Given the description of an element on the screen output the (x, y) to click on. 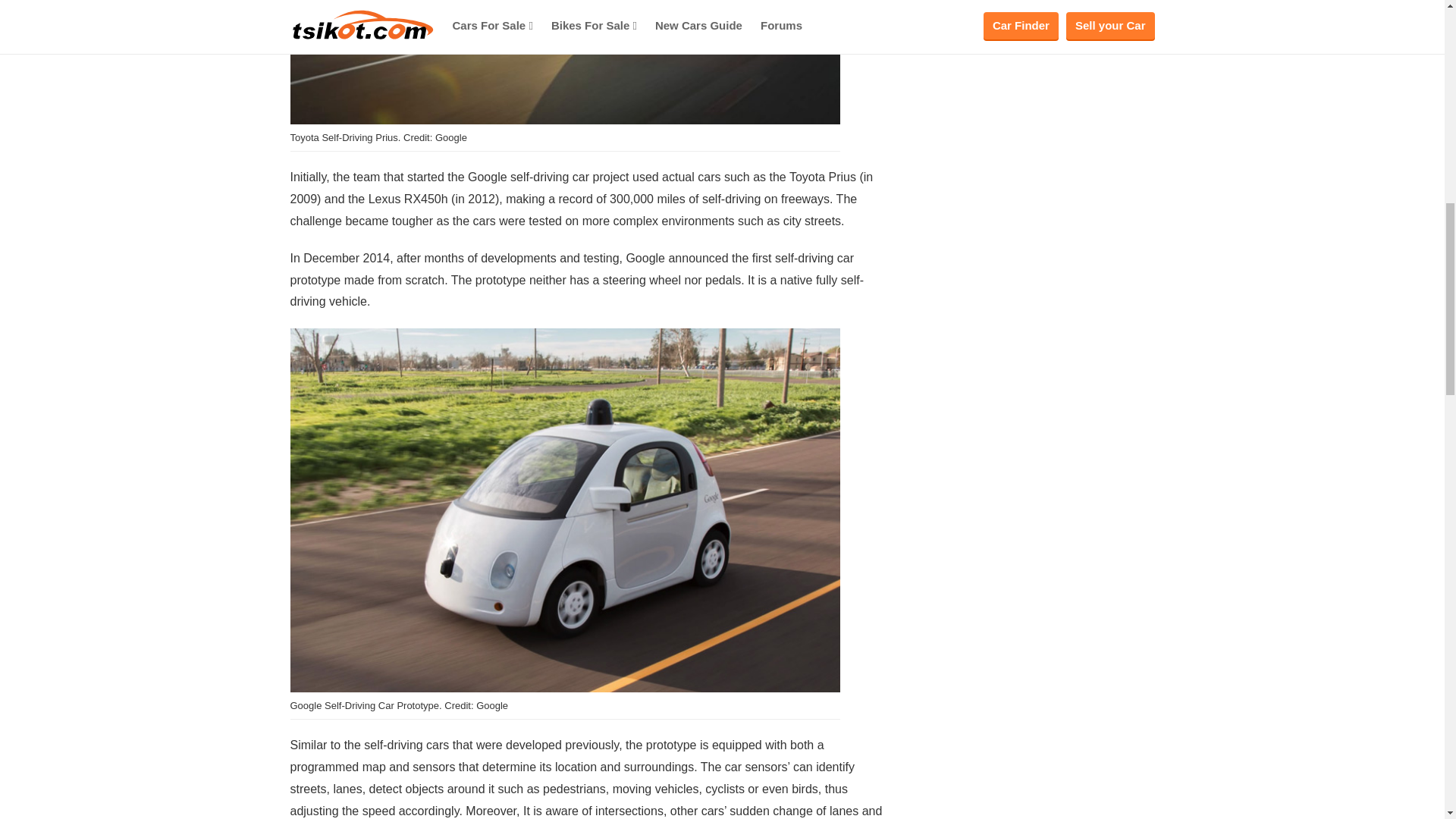
Advertisement (1040, 153)
